Given the description of an element on the screen output the (x, y) to click on. 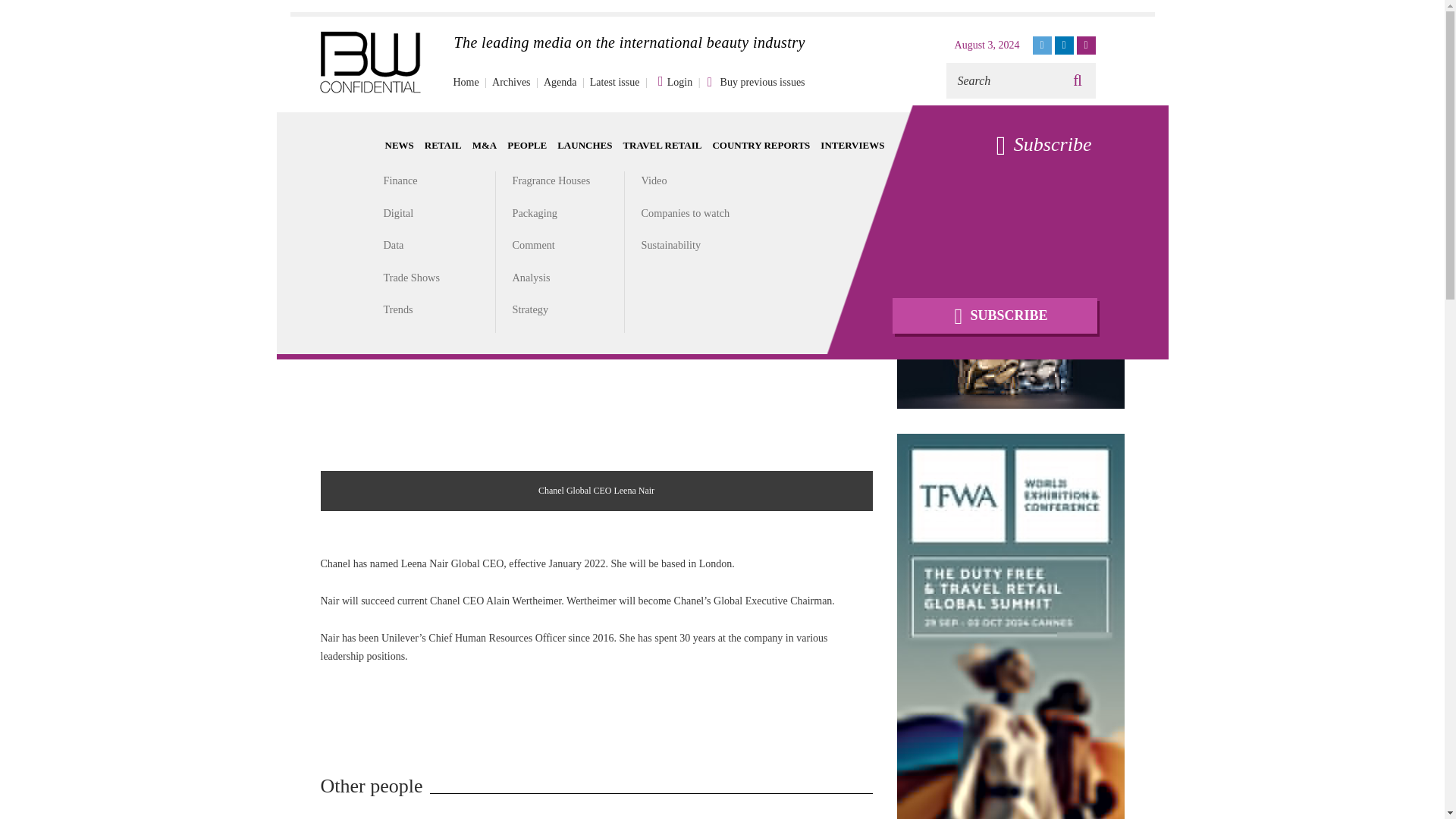
Sustainability (671, 244)
INTERVIEWS (852, 144)
Video (654, 180)
TWITTER (1041, 45)
Home (465, 82)
COUNTRY REPORTS (760, 144)
RETAIL (443, 144)
Digital (398, 213)
Search (1002, 80)
Trends (398, 309)
LAUNCHES (584, 144)
Login (667, 82)
Fragrance Houses (551, 180)
Finance (400, 180)
Companies to watch (686, 213)
